Given the description of an element on the screen output the (x, y) to click on. 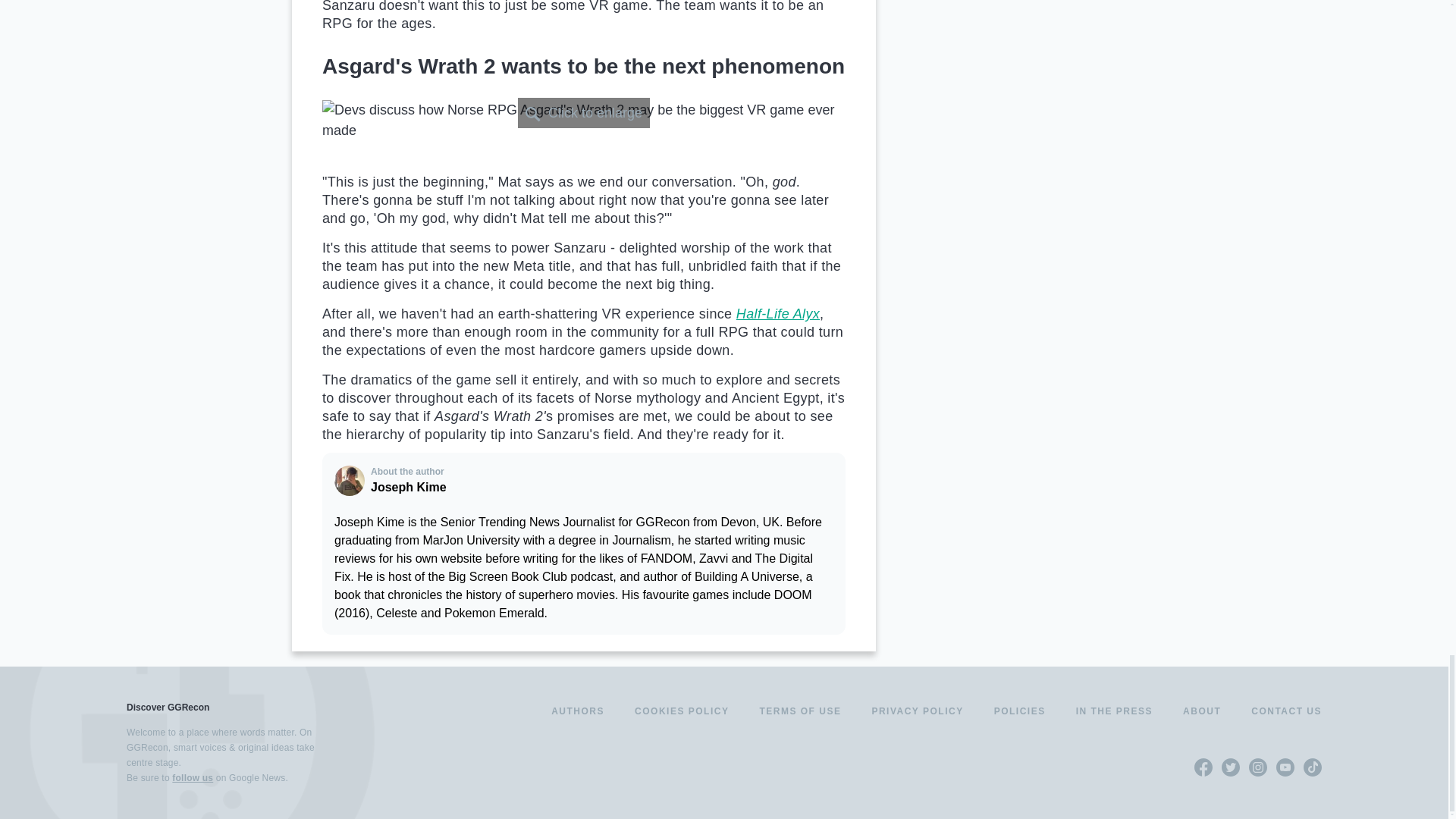
instagramLink (1257, 767)
youtubeLink (1285, 767)
tiktokLink (1312, 767)
facebookLink (1202, 767)
twitterLink (1230, 767)
Joseph Kime (349, 481)
You can now play Half-Life: Alyx without VR (777, 313)
